Given the description of an element on the screen output the (x, y) to click on. 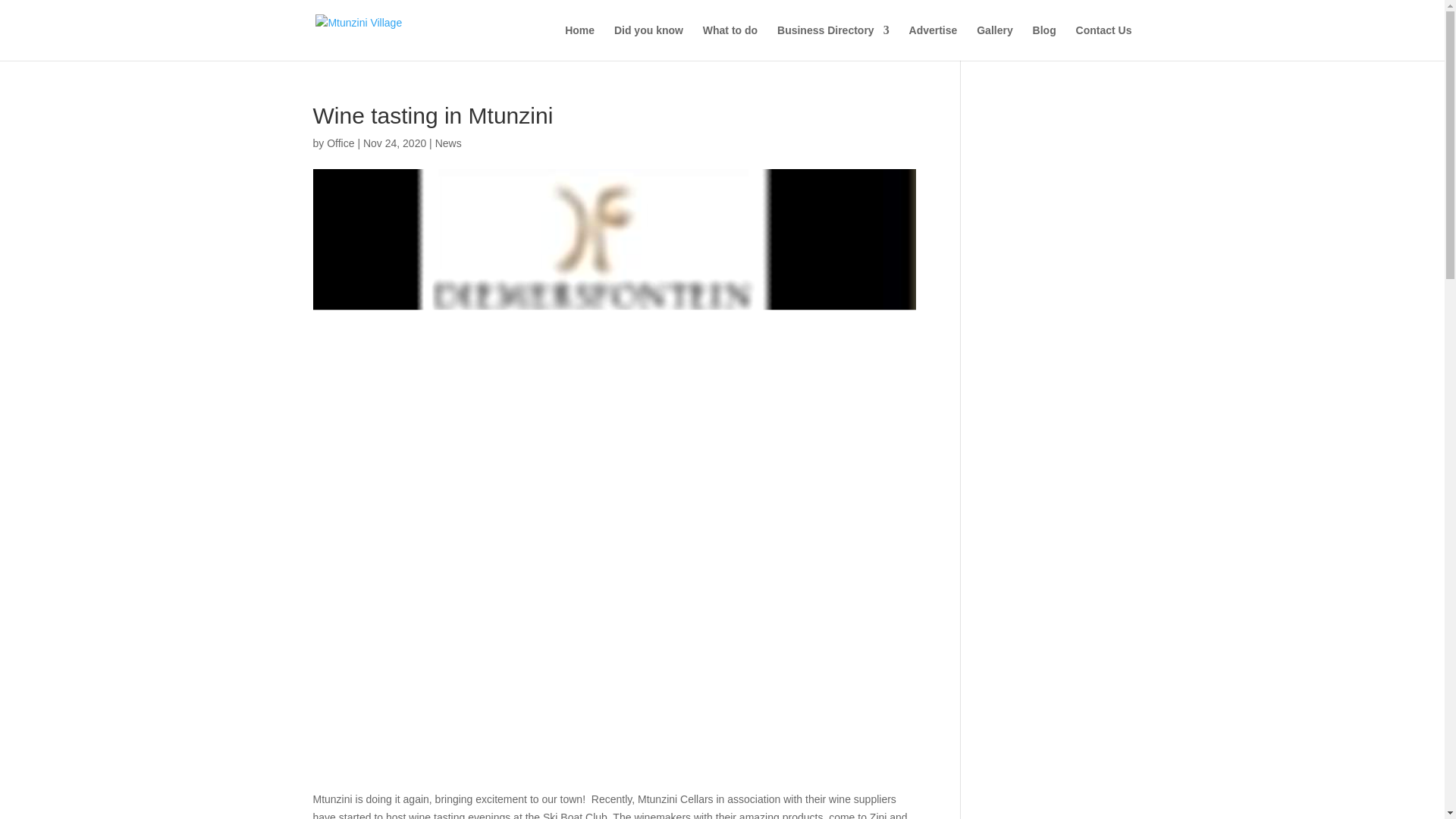
Posts by Office (339, 143)
Did you know (648, 42)
Gallery (993, 42)
News (448, 143)
Contact Us (1103, 42)
Advertise (933, 42)
What to do (730, 42)
Office (339, 143)
Business Directory (833, 42)
